Given the description of an element on the screen output the (x, y) to click on. 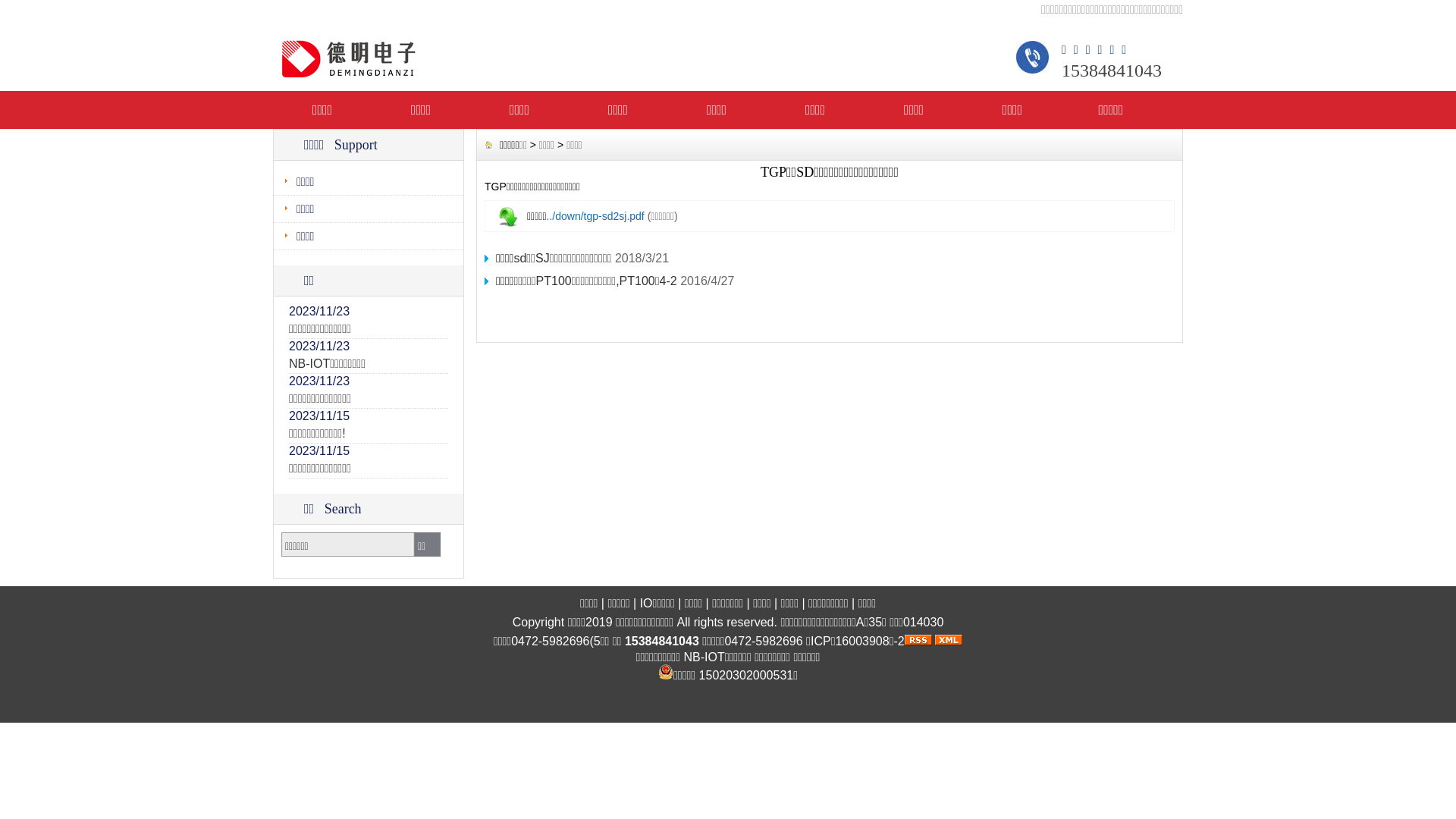
../down/tgp-sd2sj.pdf Element type: text (595, 216)
